Given the description of an element on the screen output the (x, y) to click on. 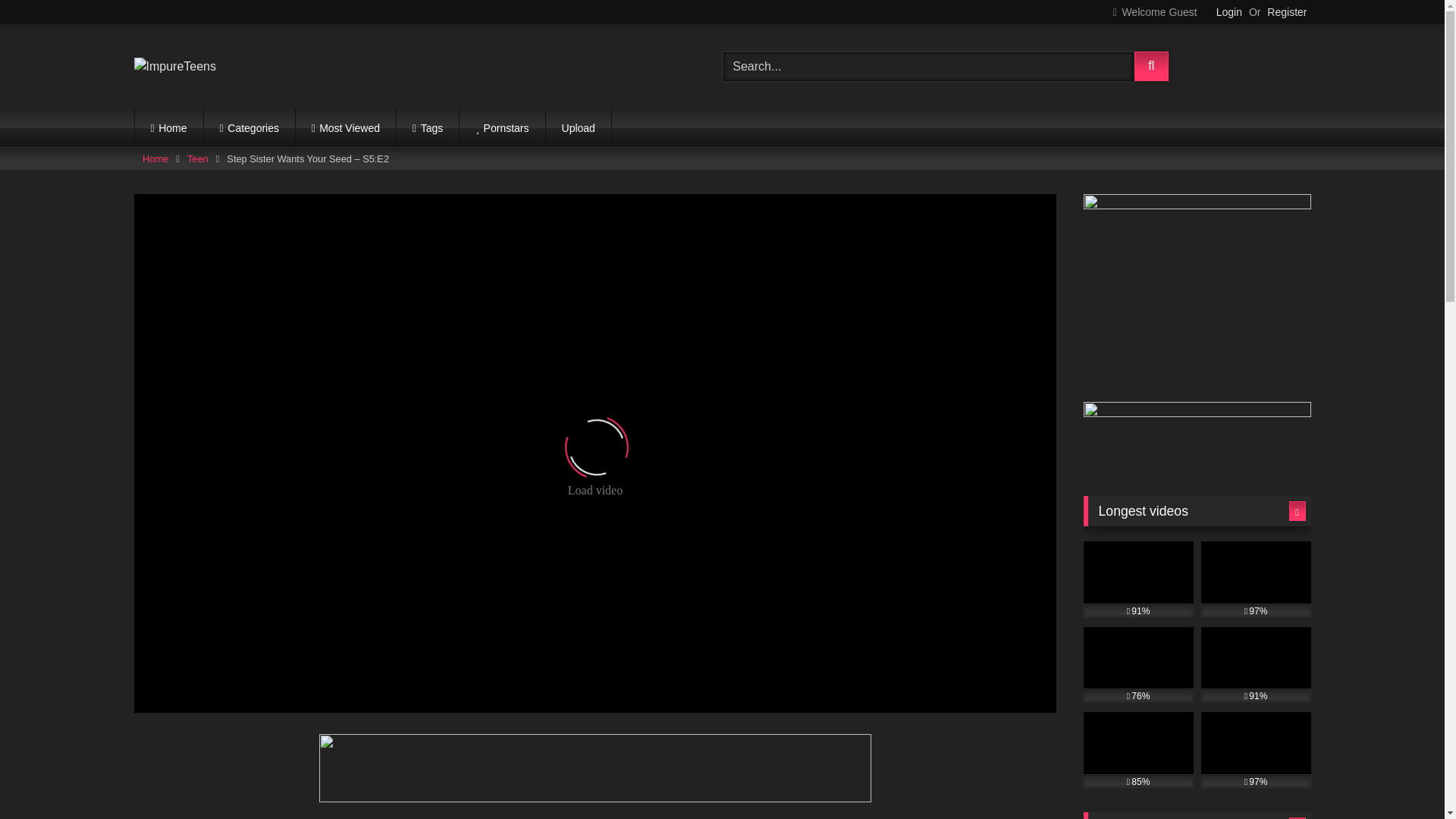
Search... (928, 66)
Most Viewed (345, 127)
Home (155, 158)
Teen (197, 158)
Login (1228, 12)
Tags (427, 127)
Register (1286, 12)
Pornstars (502, 127)
Upload (578, 127)
Categories (249, 127)
Home (169, 127)
ImpureTeens (174, 66)
